Given the description of an element on the screen output the (x, y) to click on. 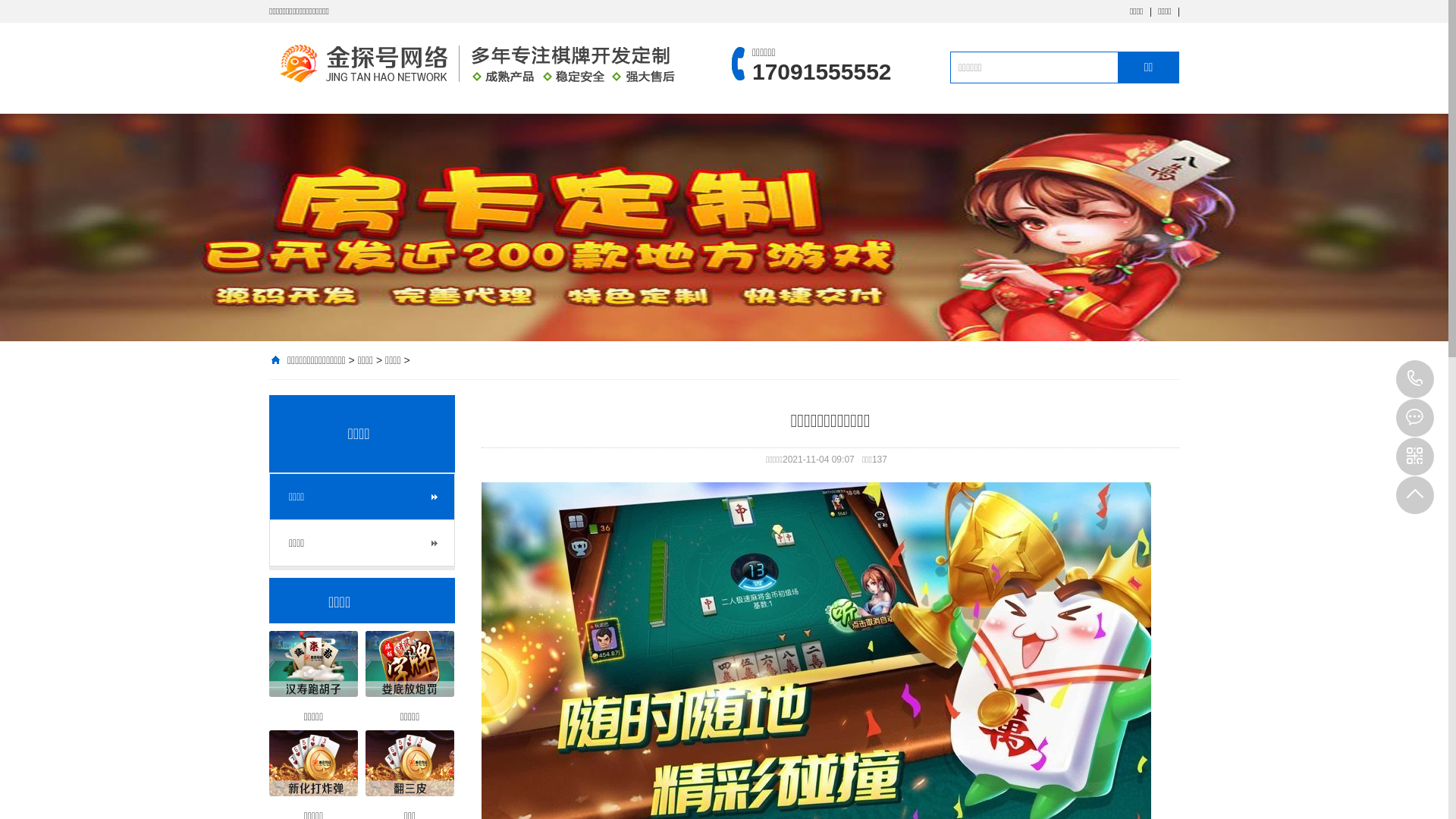
17091555552 Element type: text (1415, 379)
